Given the description of an element on the screen output the (x, y) to click on. 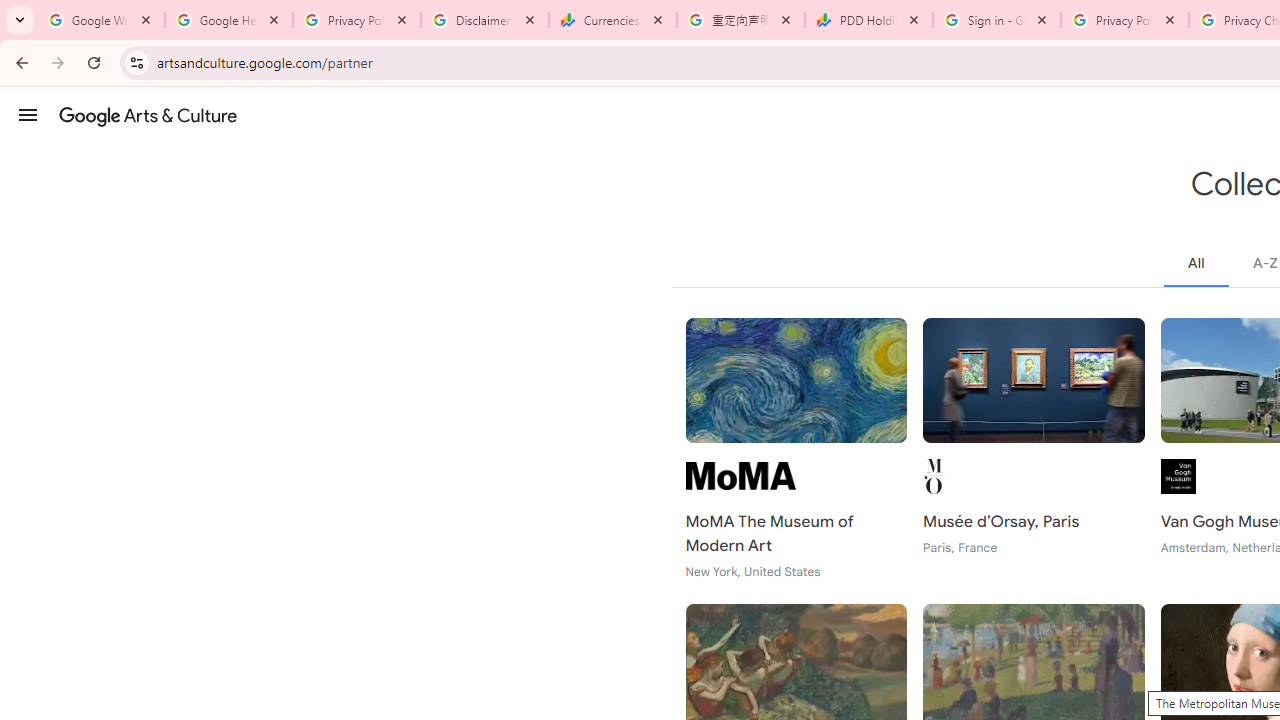
MoMA The Museum of Modern Art New York, United States (795, 449)
Sign in - Google Accounts (997, 20)
PDD Holdings Inc - ADR (PDD) Price & News - Google Finance (869, 20)
Currencies - Google Finance (613, 20)
